Given the description of an element on the screen output the (x, y) to click on. 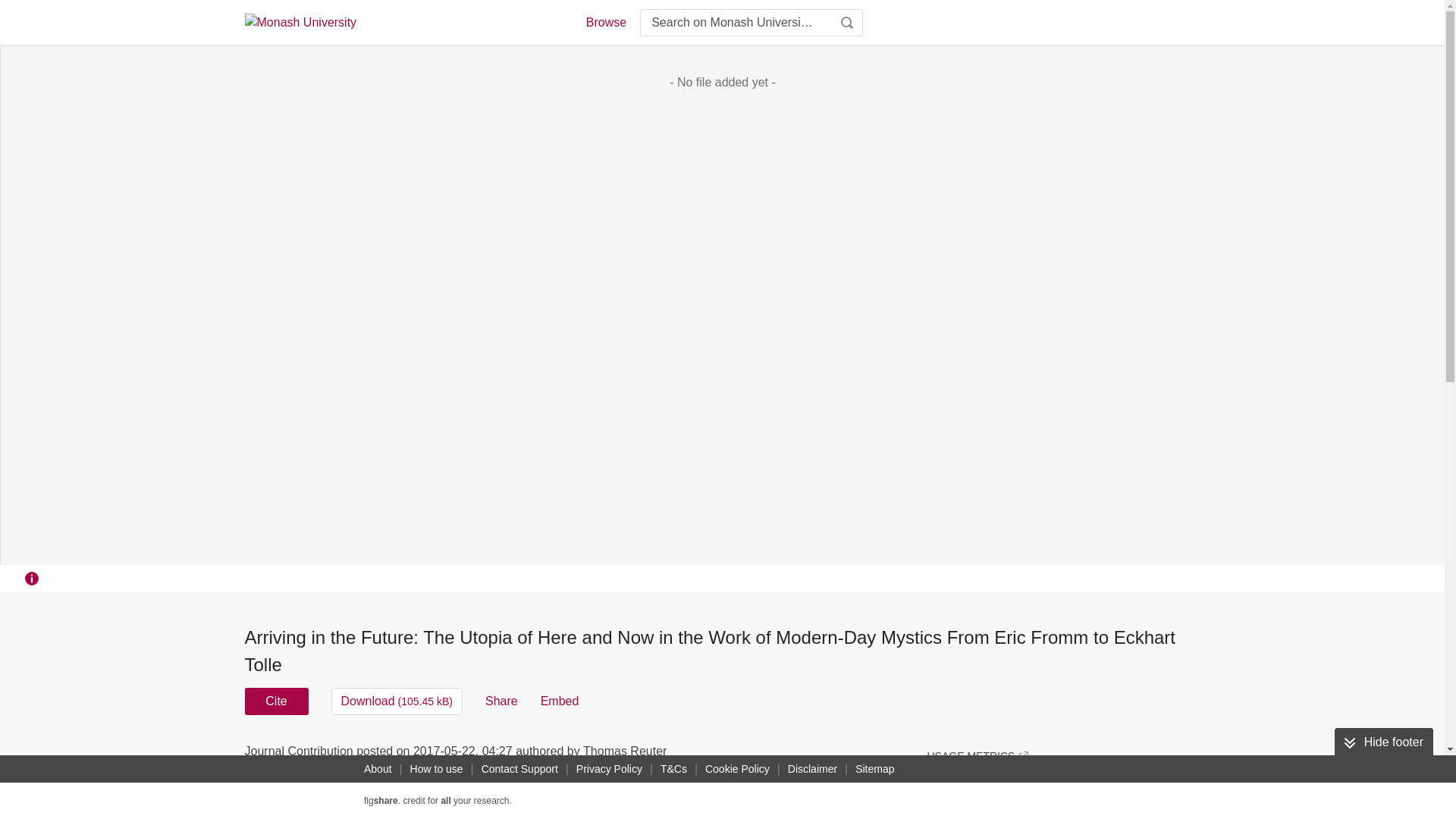
Embed (559, 700)
USAGE METRICS (976, 755)
About (377, 769)
Sitemap (874, 769)
Privacy Policy (609, 769)
Cite (275, 700)
Share (501, 700)
Contact Support (519, 769)
Browse (605, 22)
Hide footer (1383, 742)
